Given the description of an element on the screen output the (x, y) to click on. 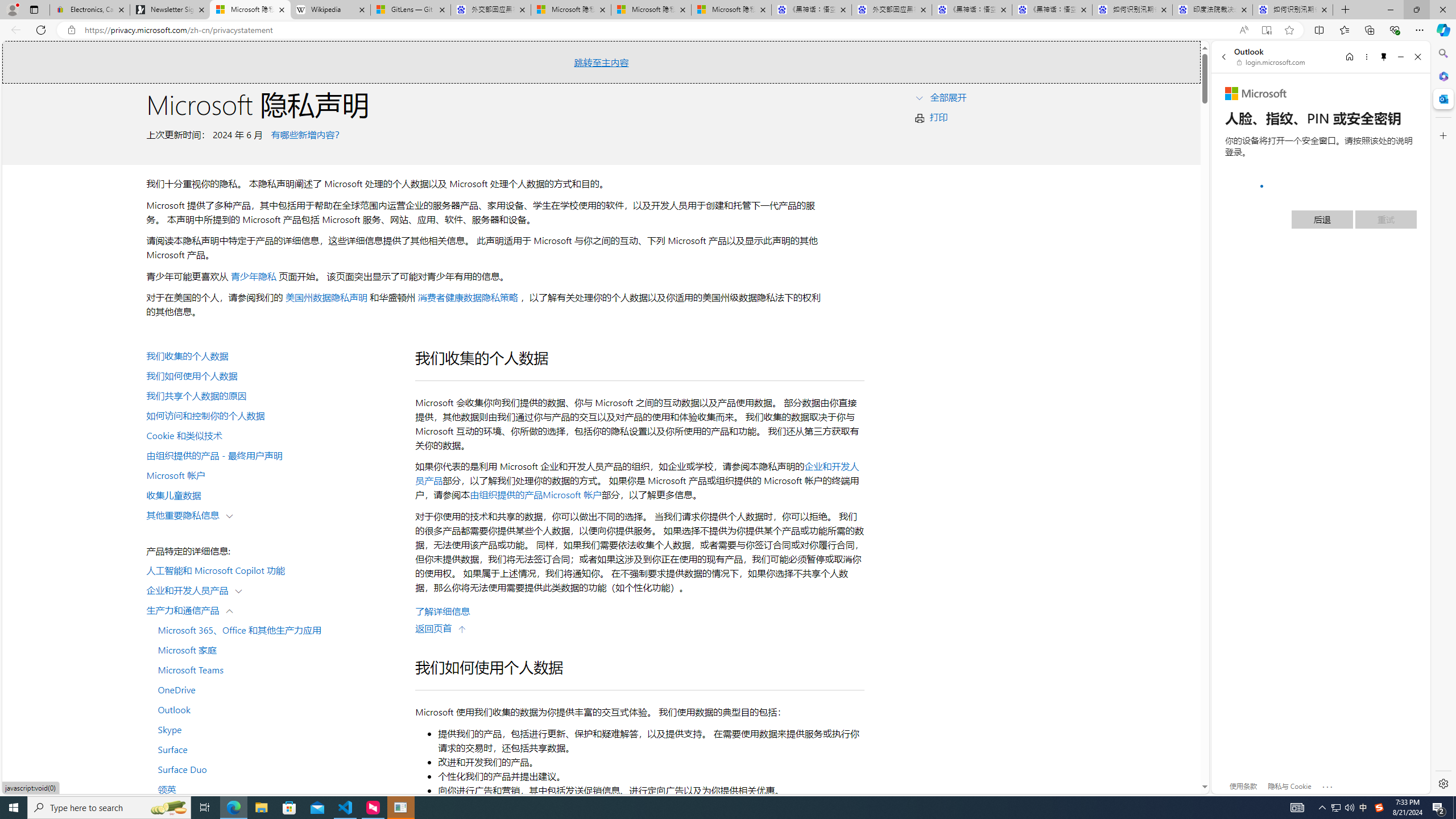
Newsletter Sign Up (170, 9)
